Given the description of an element on the screen output the (x, y) to click on. 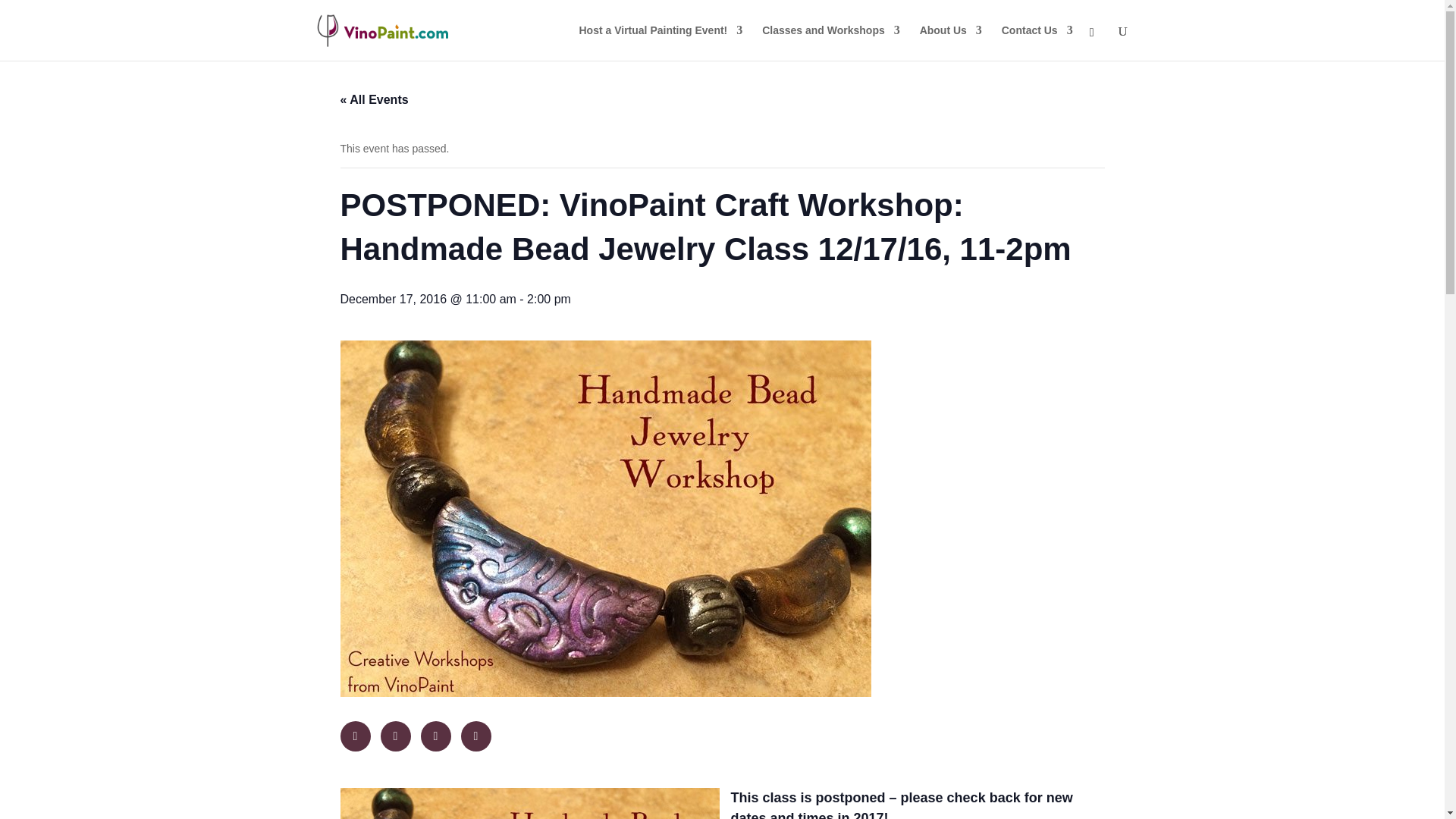
Classes and Workshops (830, 42)
About Us (950, 42)
Host a Virtual Painting Event! (660, 42)
Contact Us (1037, 42)
